Given the description of an element on the screen output the (x, y) to click on. 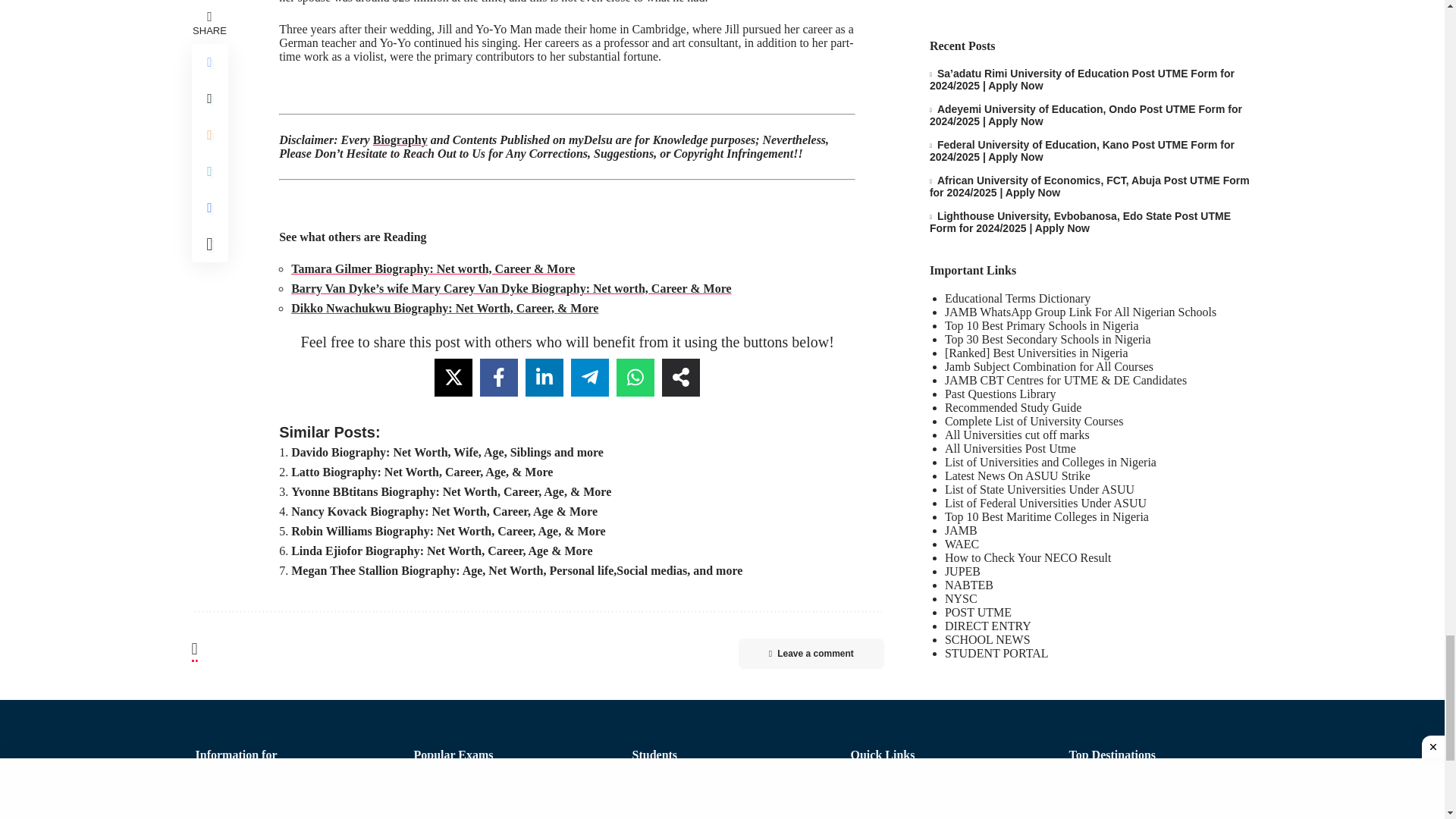
Davido Biography: Net Worth, Wife, Age, Siblings and more (447, 451)
